Given the description of an element on the screen output the (x, y) to click on. 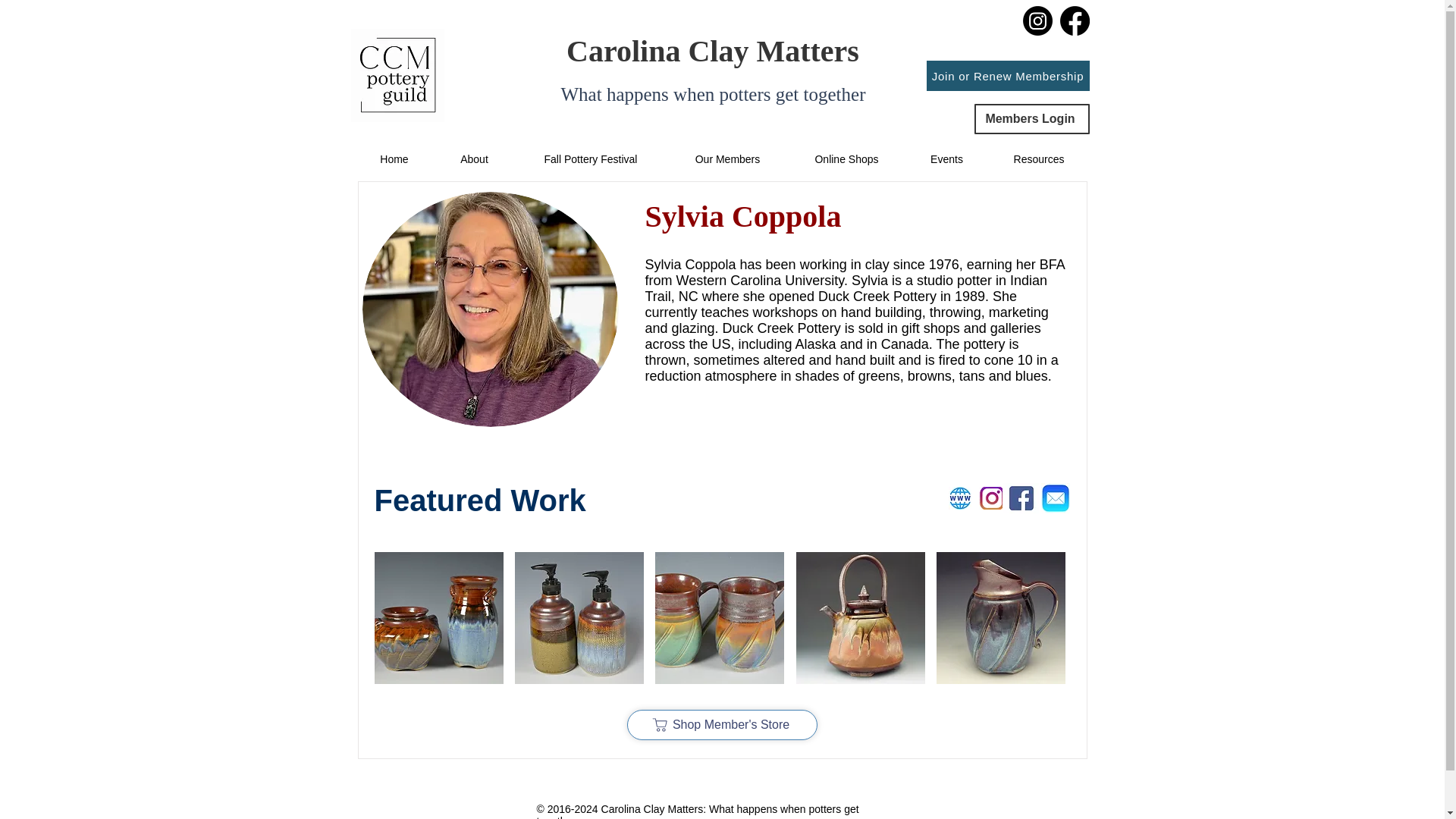
Fall Pottery Festival (589, 159)
Online Shops (845, 159)
Our Members (726, 159)
Shop Member's Store (721, 725)
Join or Renew Membership (1007, 75)
Home (394, 159)
Members Login (1031, 119)
